Given the description of an element on the screen output the (x, y) to click on. 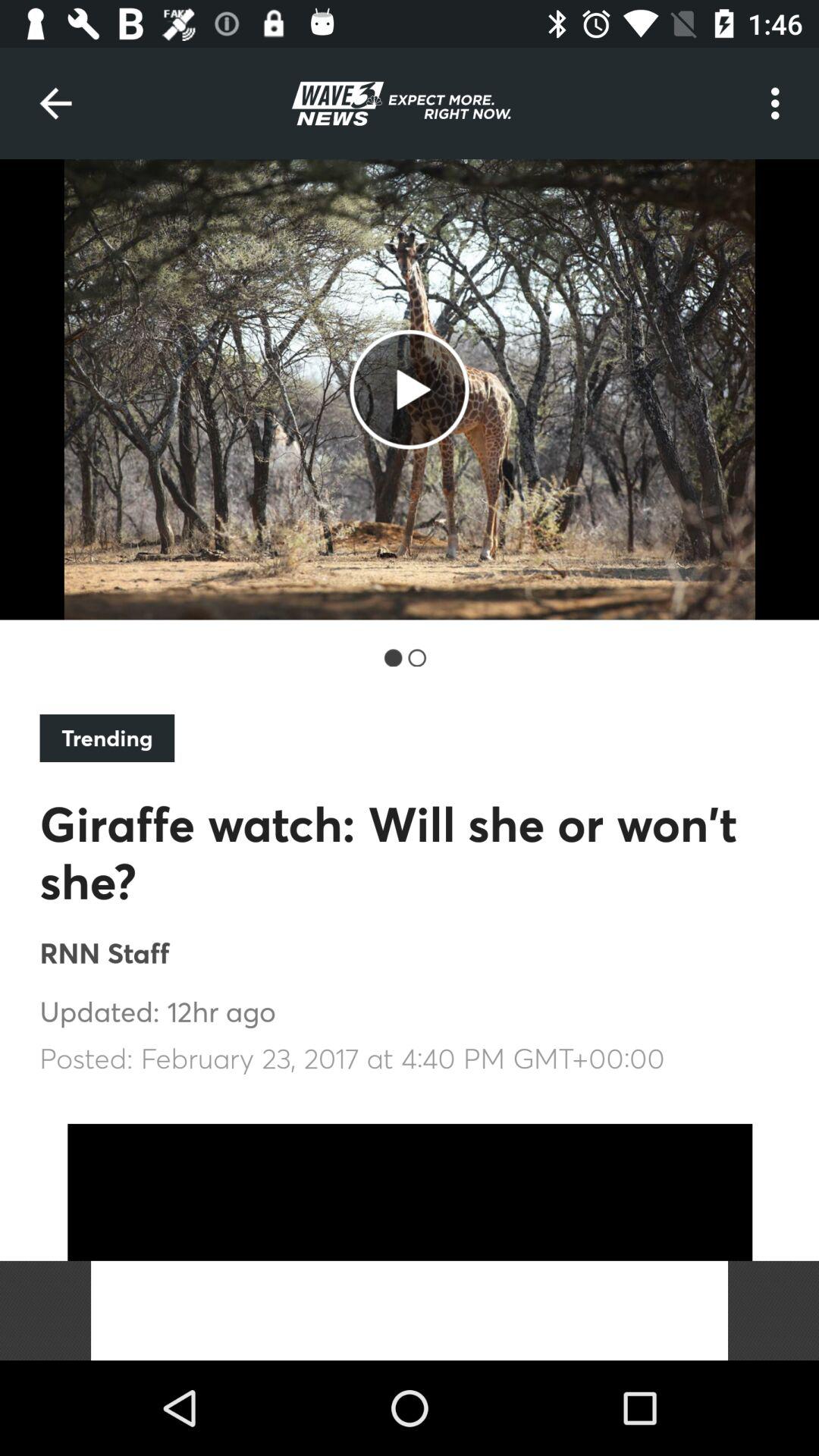
click the item above the giraffe watch will (106, 738)
